Given the description of an element on the screen output the (x, y) to click on. 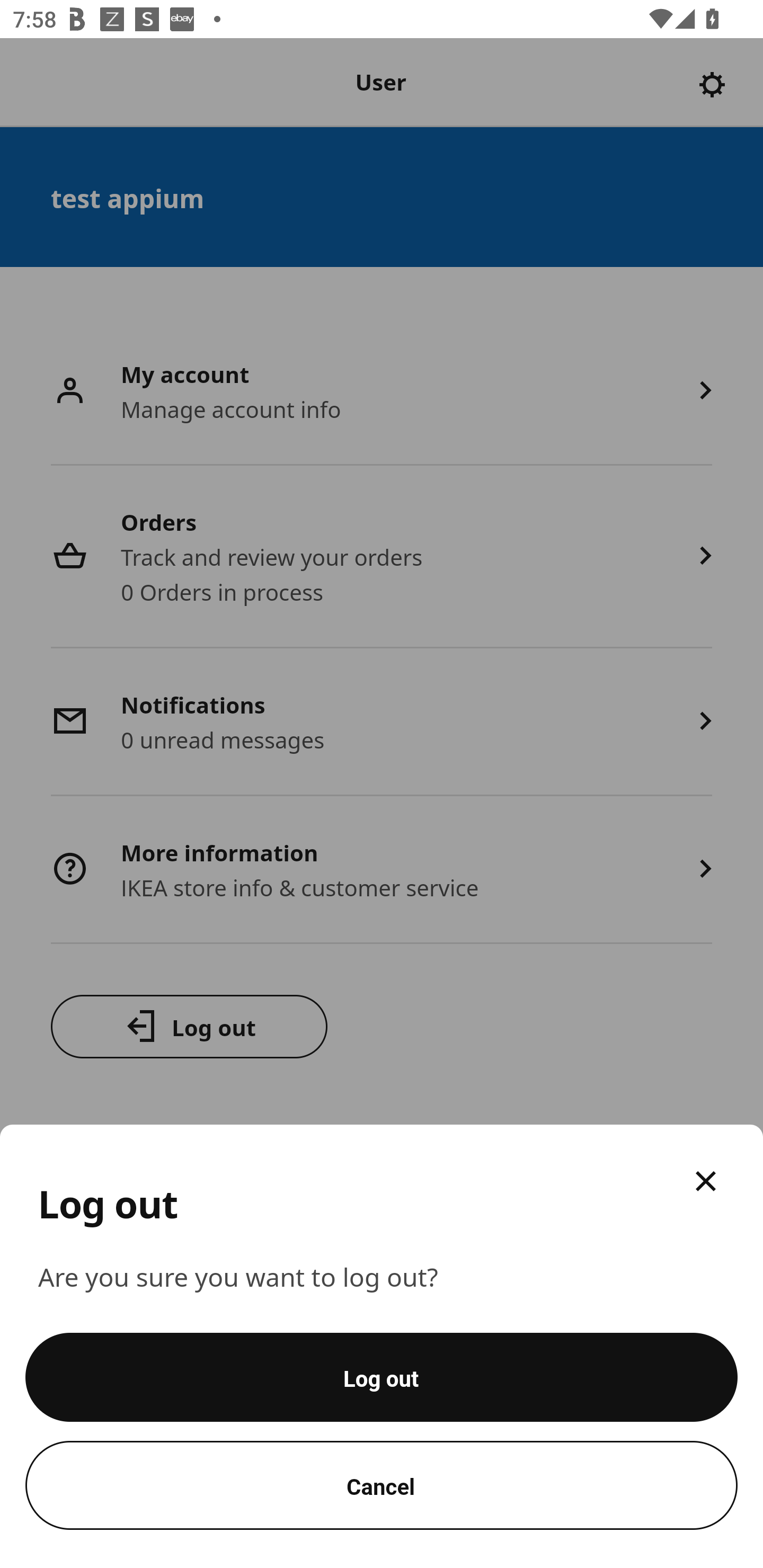
Log out (381, 1377)
Cancel (381, 1485)
